Given the description of an element on the screen output the (x, y) to click on. 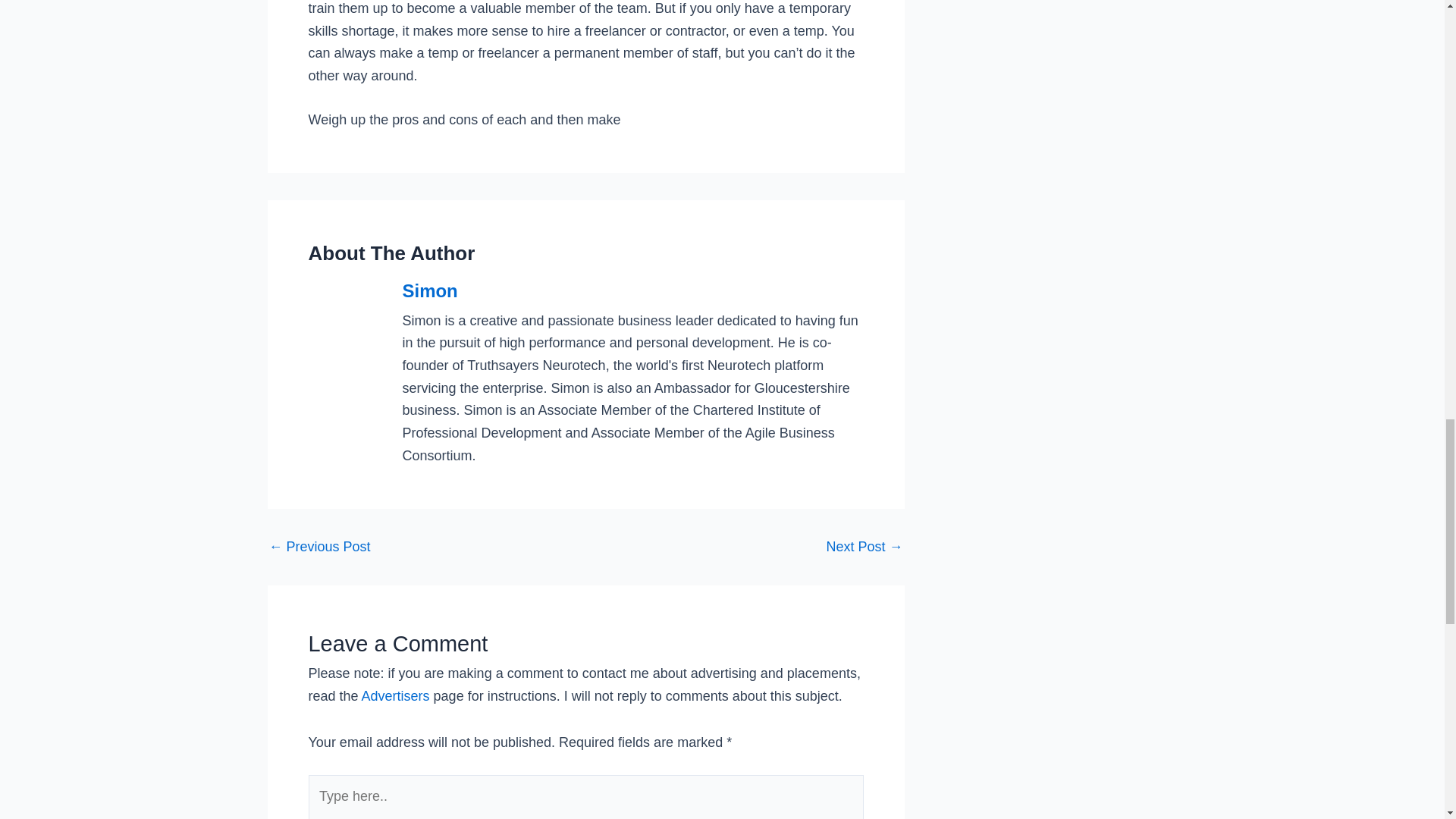
Advertisers (395, 695)
Solo Success: 12 Tips For Flourishing On Your Own (318, 546)
Simon (632, 291)
